Given the description of an element on the screen output the (x, y) to click on. 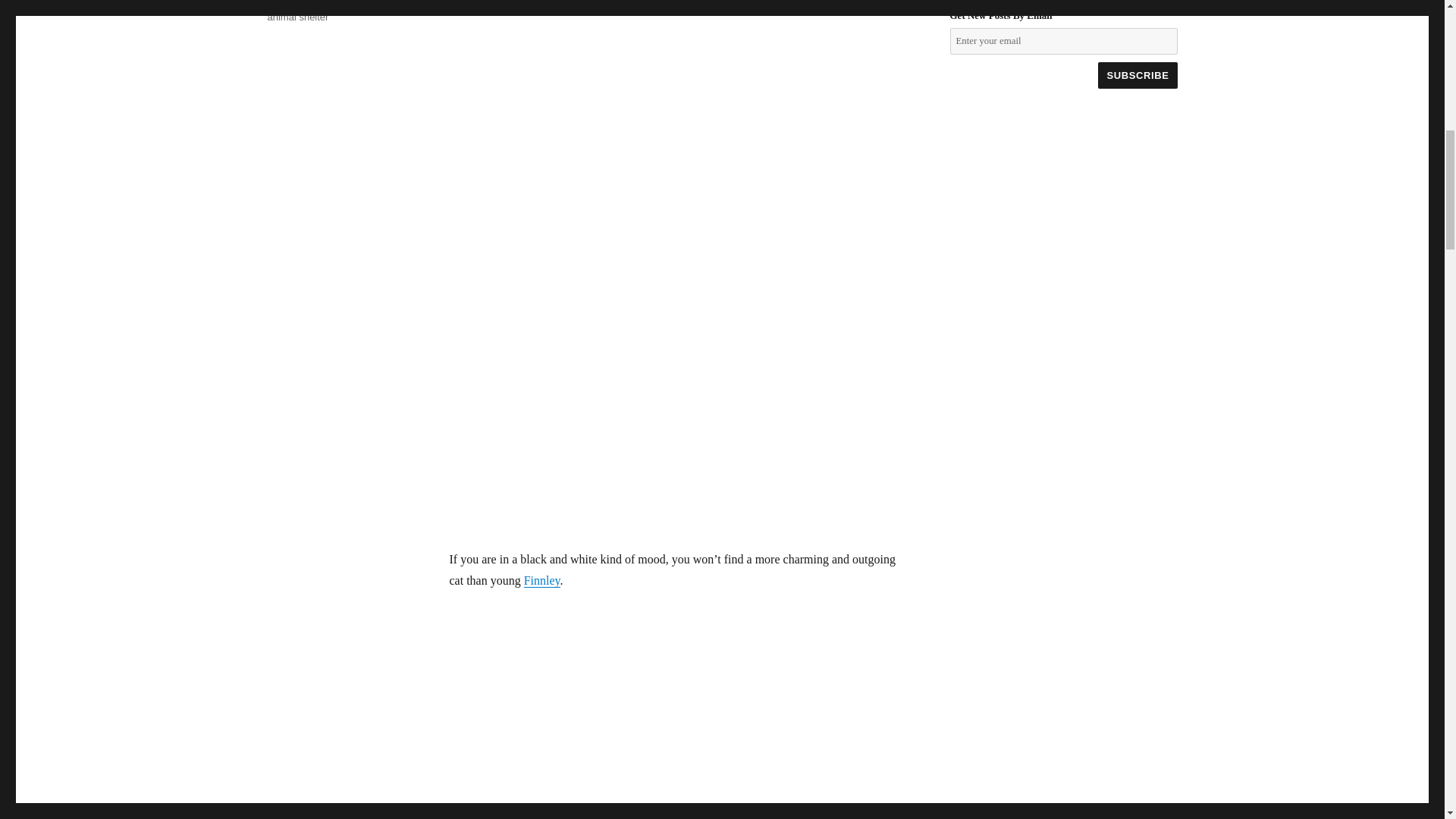
PAWS animal shelter (327, 11)
black and white cats (310, 3)
Subscribe (1136, 75)
Finnley (542, 580)
